Given the description of an element on the screen output the (x, y) to click on. 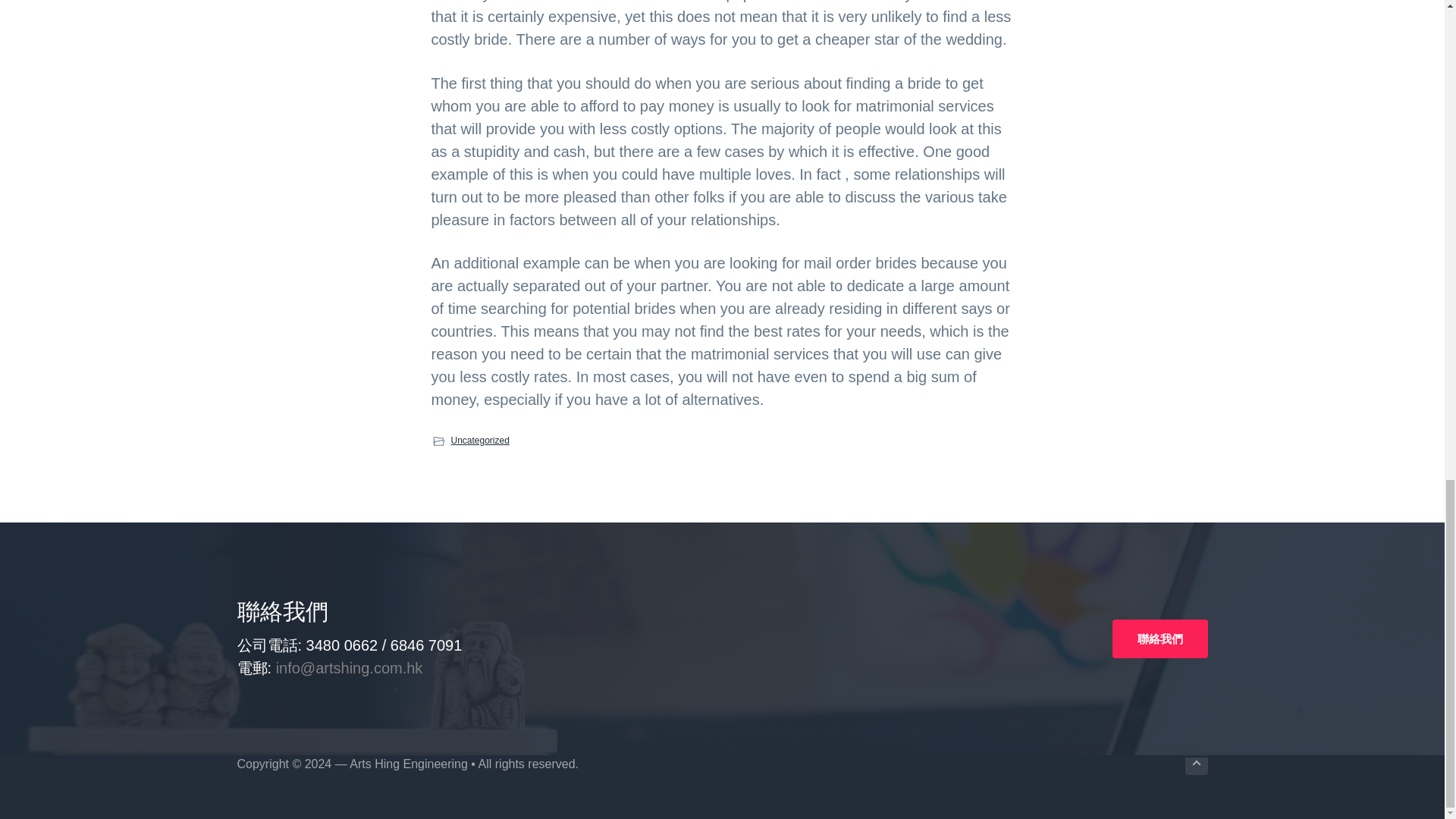
Arts Hing Engineering (408, 763)
Uncategorized (478, 440)
Arts Hing Engineering (408, 763)
